Given the description of an element on the screen output the (x, y) to click on. 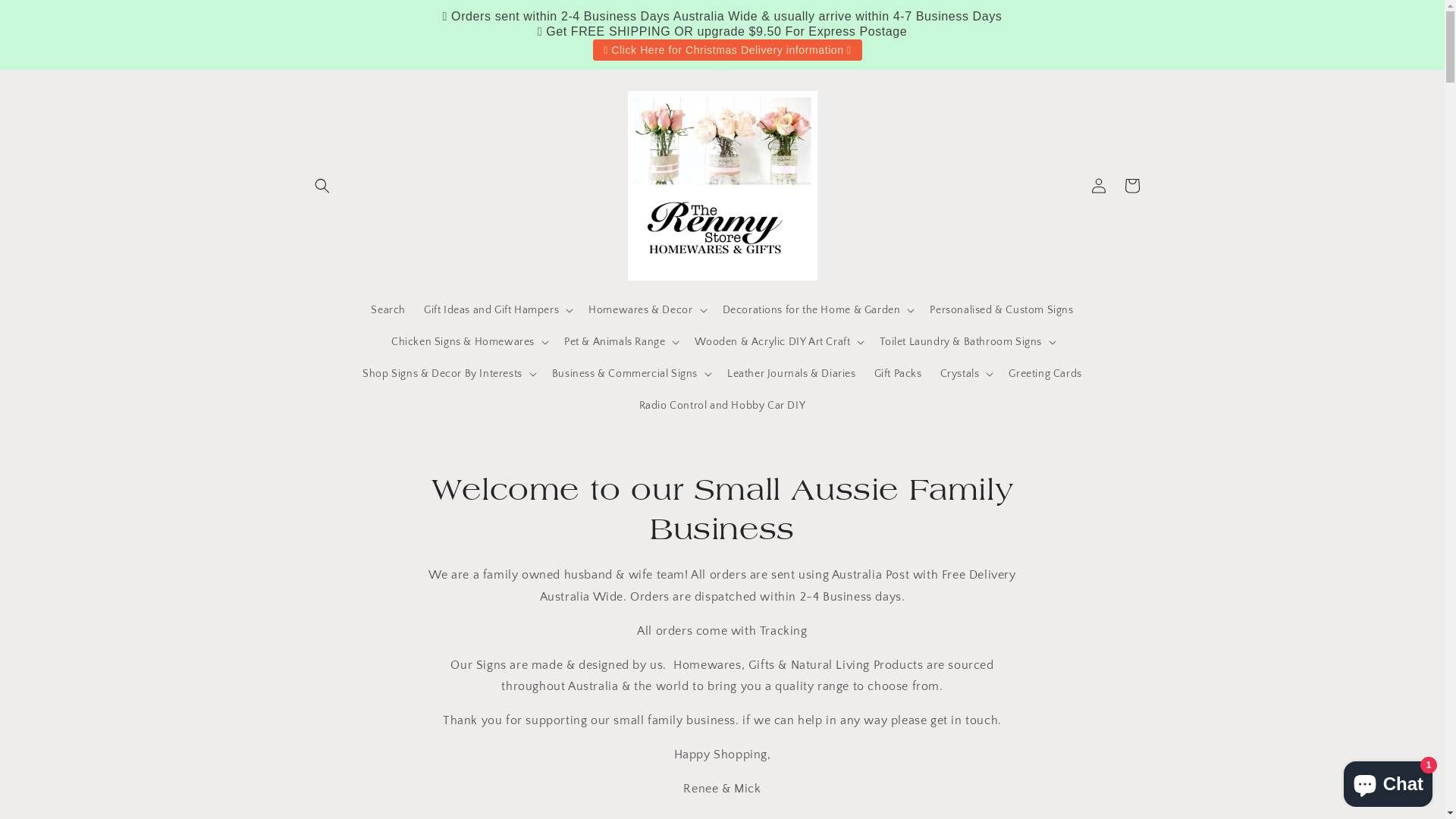
Radio Control and Hobby Car DIY Element type: text (722, 405)
Search Element type: text (387, 310)
Cart Element type: text (1131, 184)
Greeting Cards Element type: text (1044, 373)
Shopify online store chat Element type: hover (1388, 780)
Personalised & Custom Signs Element type: text (1001, 310)
Log in Element type: text (1097, 184)
Leather Journals & Diaries Element type: text (791, 373)
Gift Packs Element type: text (898, 373)
